Given the description of an element on the screen output the (x, y) to click on. 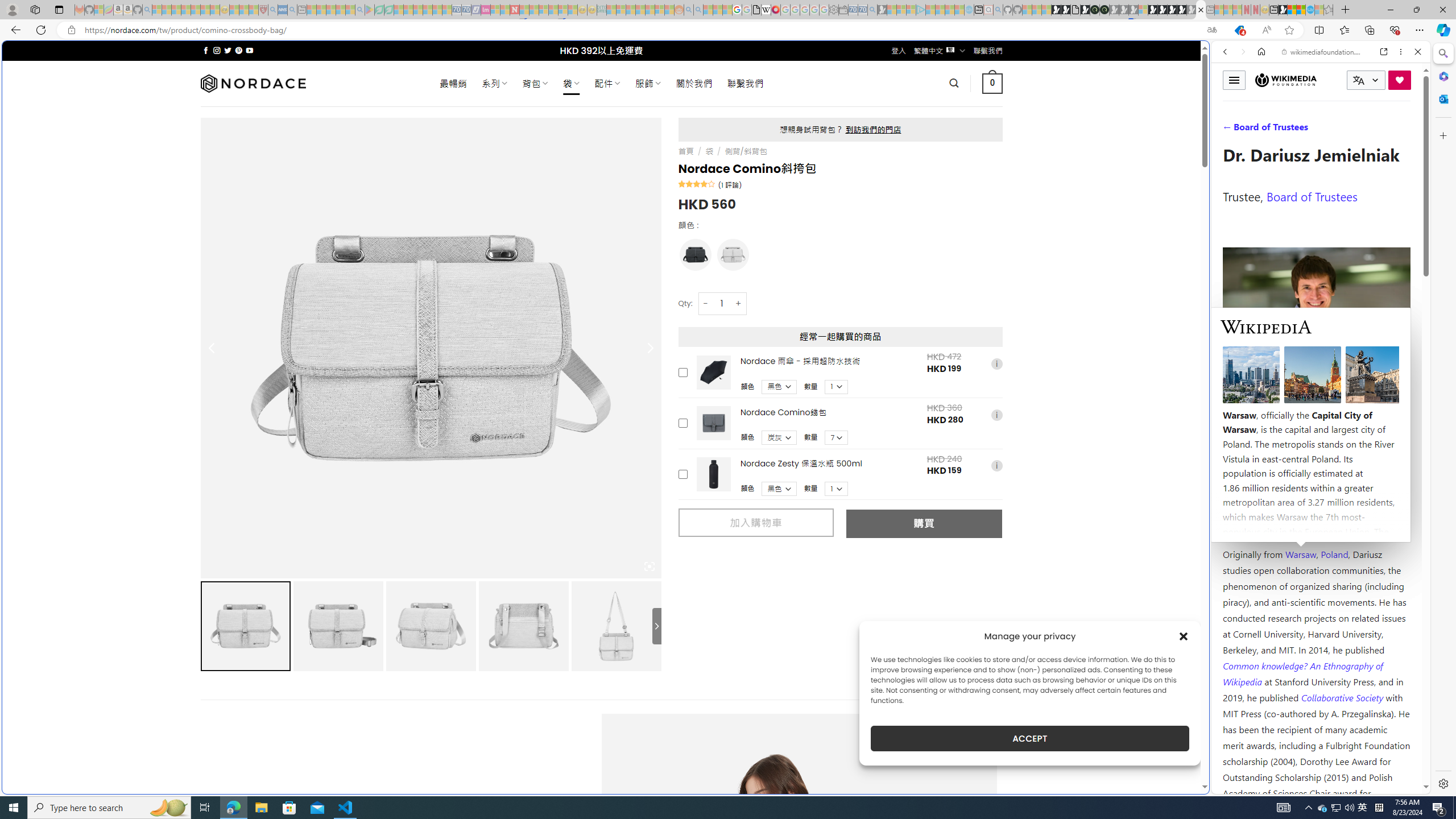
 0  (992, 83)
Future Focus Report 2024 (1103, 9)
